Given the description of an element on the screen output the (x, y) to click on. 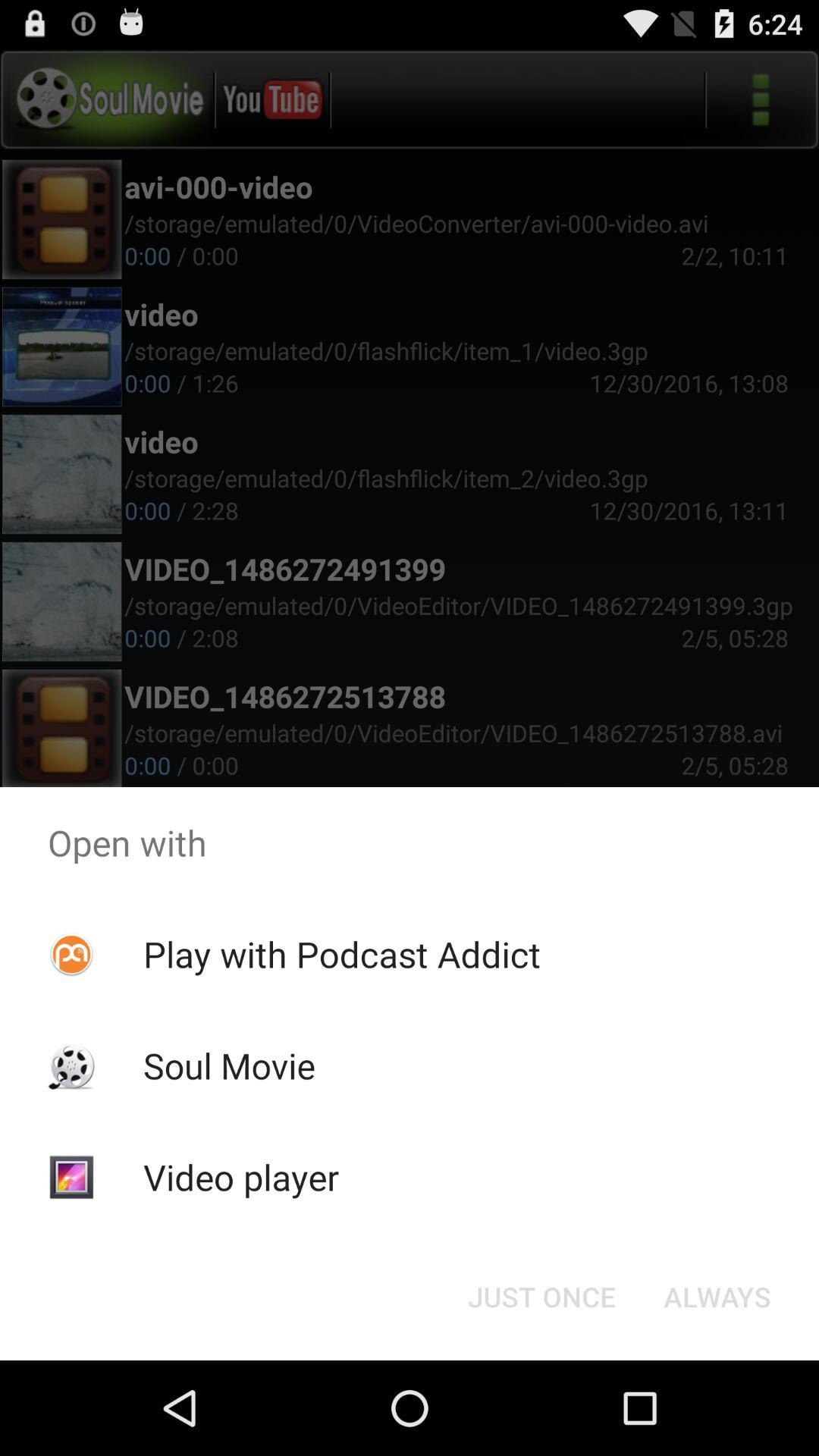
press the icon to the right of just once (717, 1296)
